Given the description of an element on the screen output the (x, y) to click on. 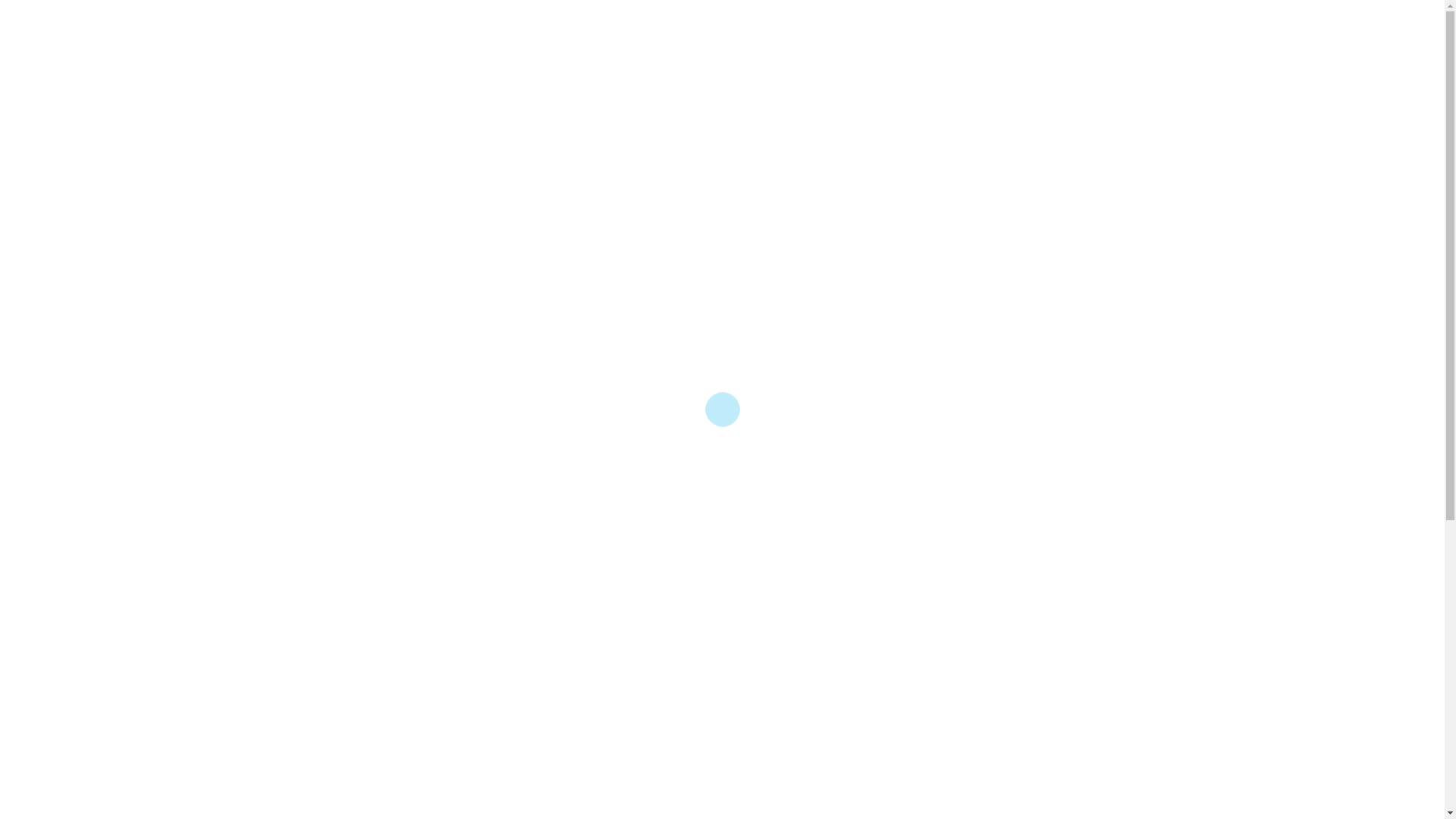
BLOG Element type: text (708, 204)
SERVICES Element type: text (625, 204)
WASTE AUDITS Element type: text (929, 204)
ABOUT Element type: text (535, 204)
CONTACT US Element type: text (801, 204)
HOME Element type: text (458, 204)
